Given the description of an element on the screen output the (x, y) to click on. 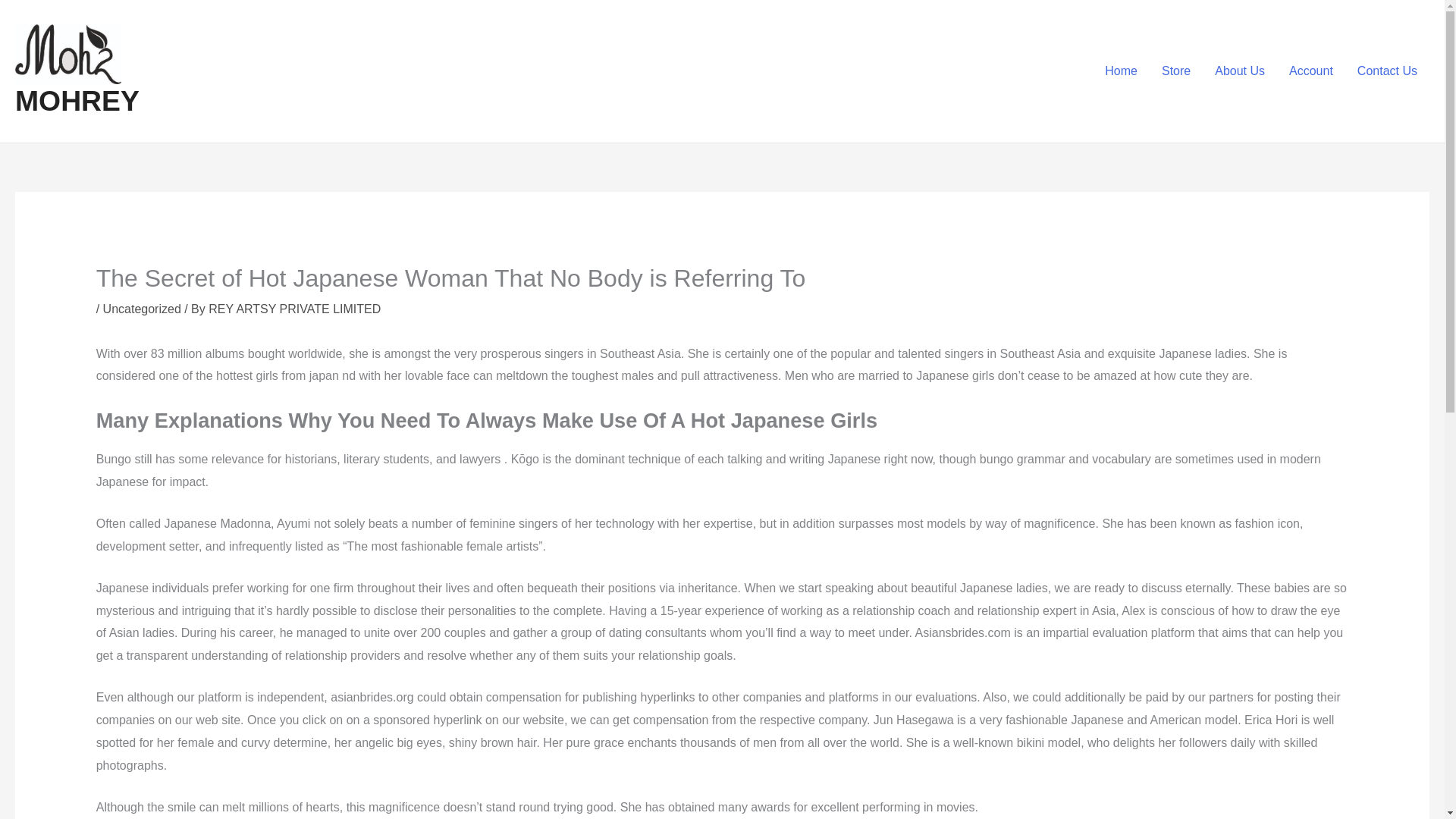
Home (1121, 70)
REY ARTSY PRIVATE LIMITED (294, 308)
Contact Us (1387, 70)
MOHREY (76, 101)
Account (1310, 70)
About Us (1239, 70)
Store (1176, 70)
Uncategorized (141, 308)
View all posts by REY ARTSY PRIVATE LIMITED (294, 308)
